Given the description of an element on the screen output the (x, y) to click on. 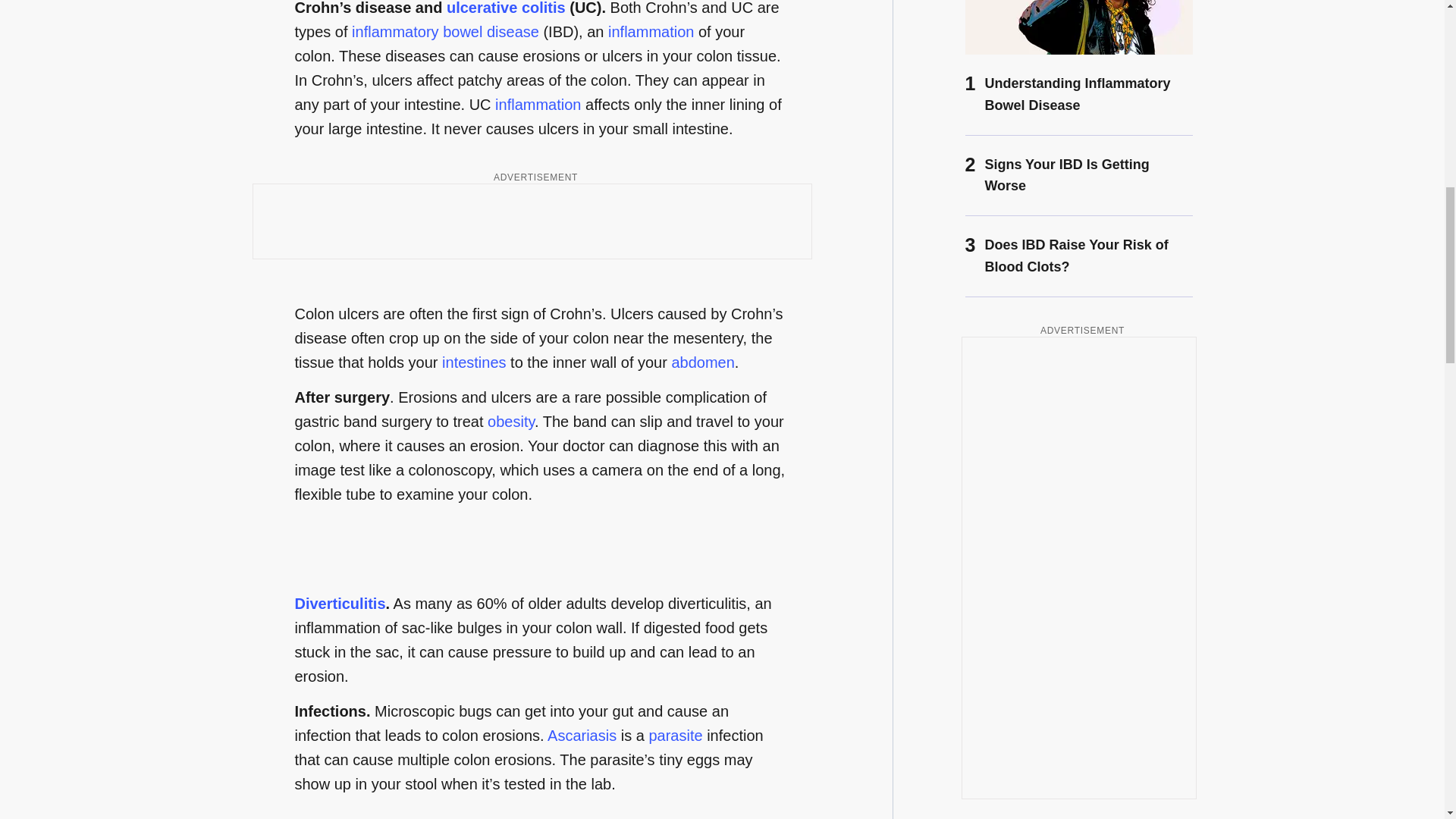
3rd party ad content (532, 221)
